Given the description of an element on the screen output the (x, y) to click on. 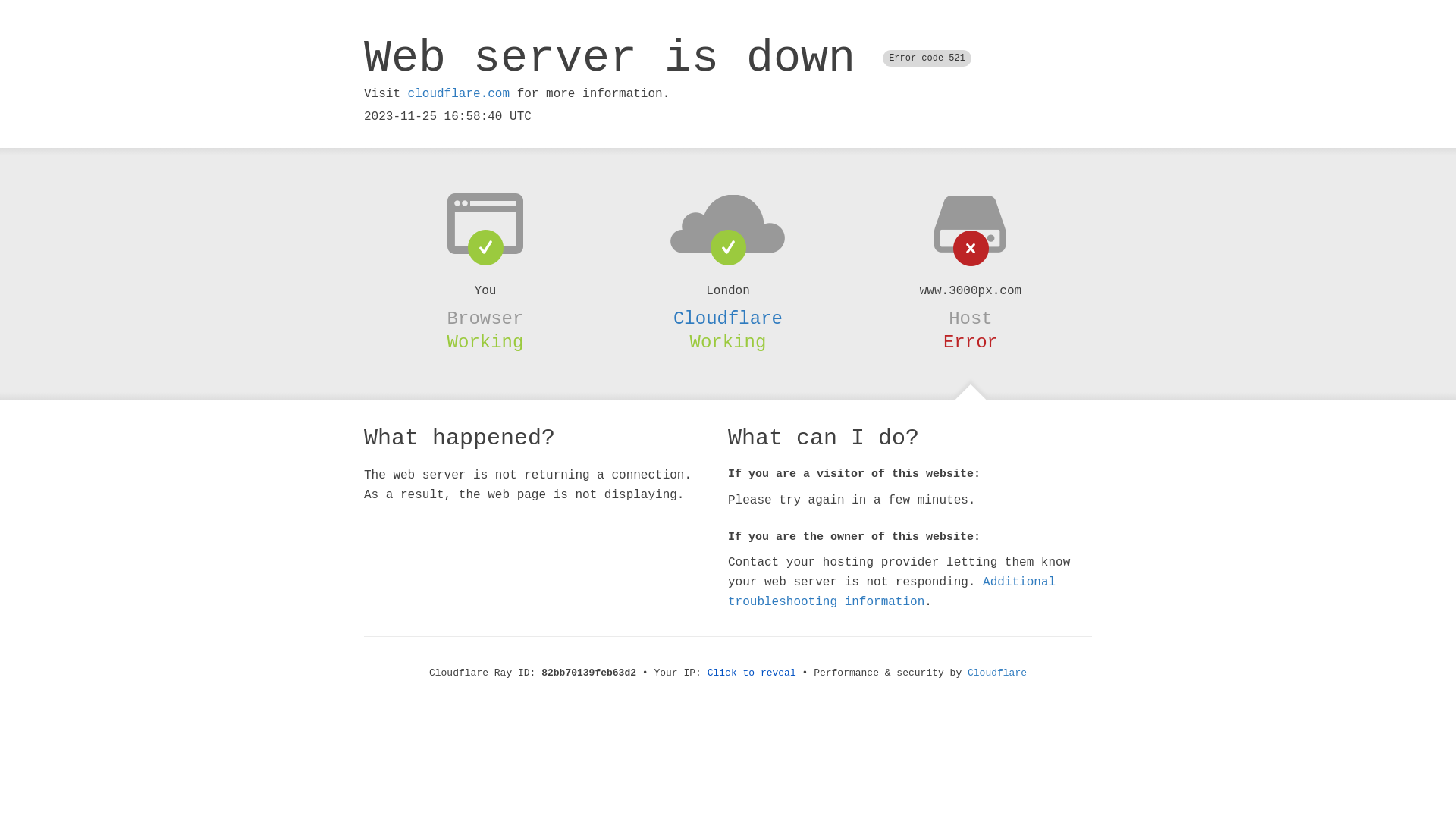
Cloudflare Element type: text (996, 672)
Click to reveal Element type: text (751, 672)
cloudflare.com Element type: text (458, 93)
Cloudflare Element type: text (727, 318)
Additional troubleshooting information Element type: text (891, 591)
